Given the description of an element on the screen output the (x, y) to click on. 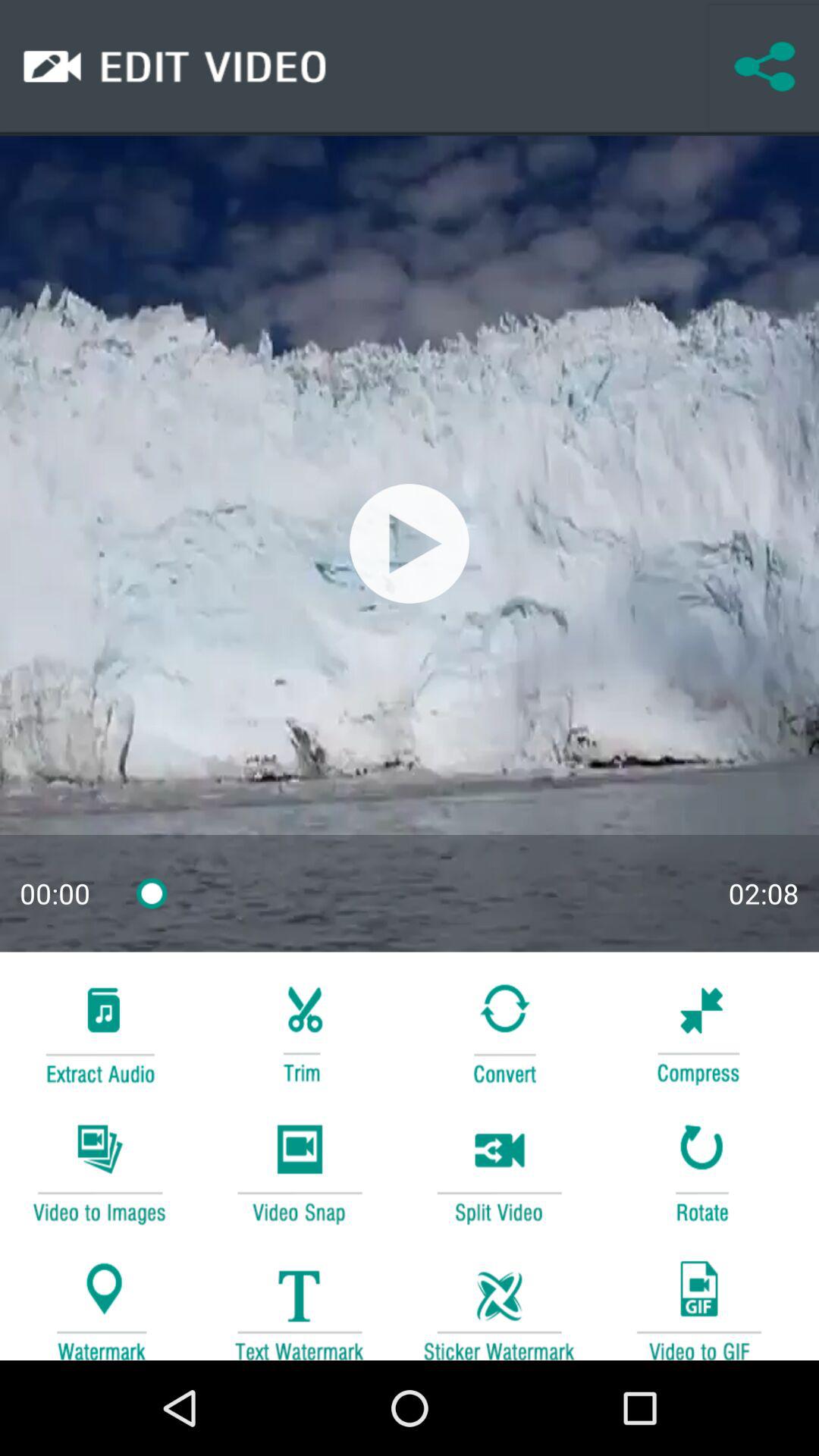
share the video (764, 67)
